Given the description of an element on the screen output the (x, y) to click on. 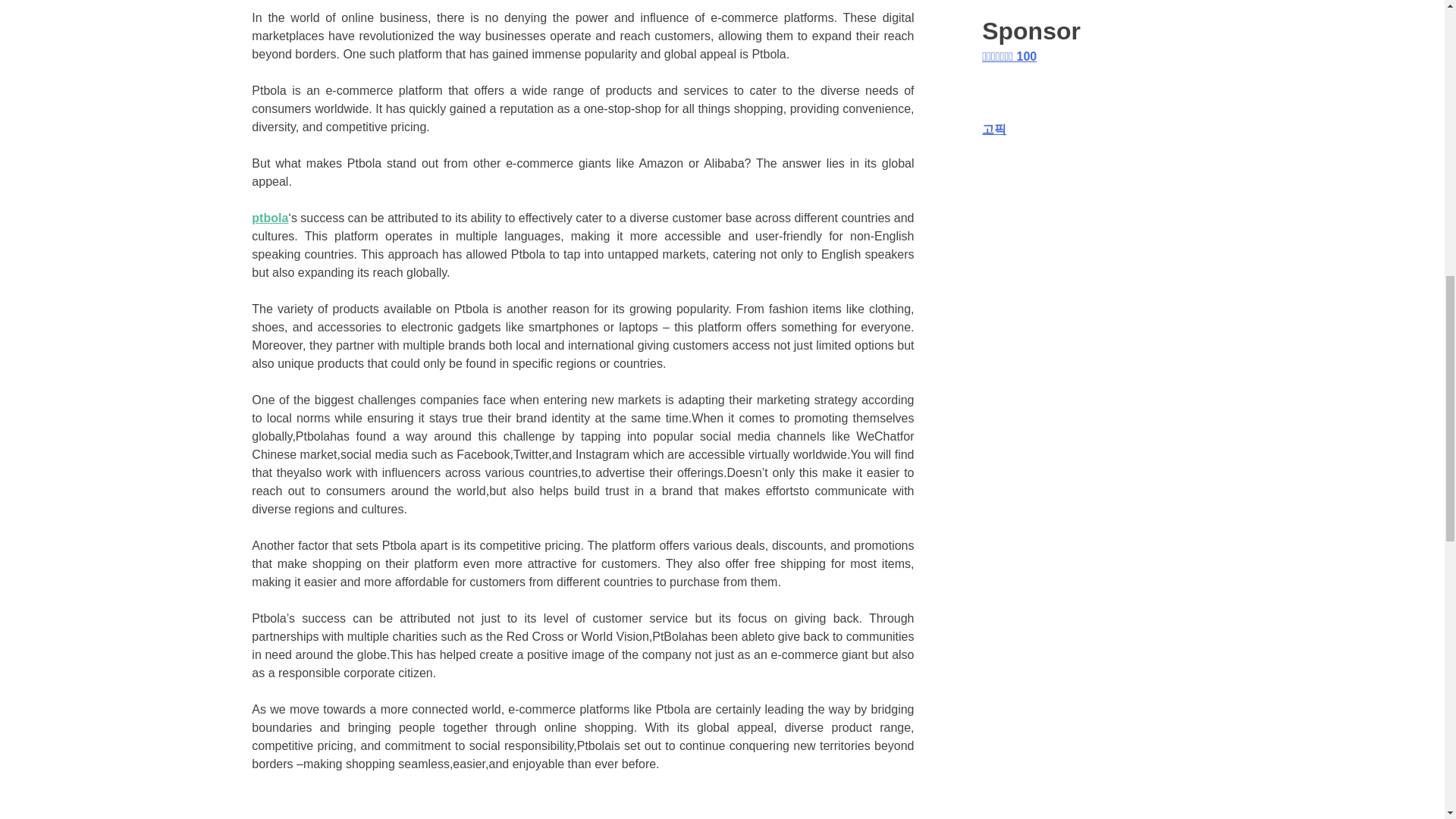
ptbola (269, 216)
